Given the description of an element on the screen output the (x, y) to click on. 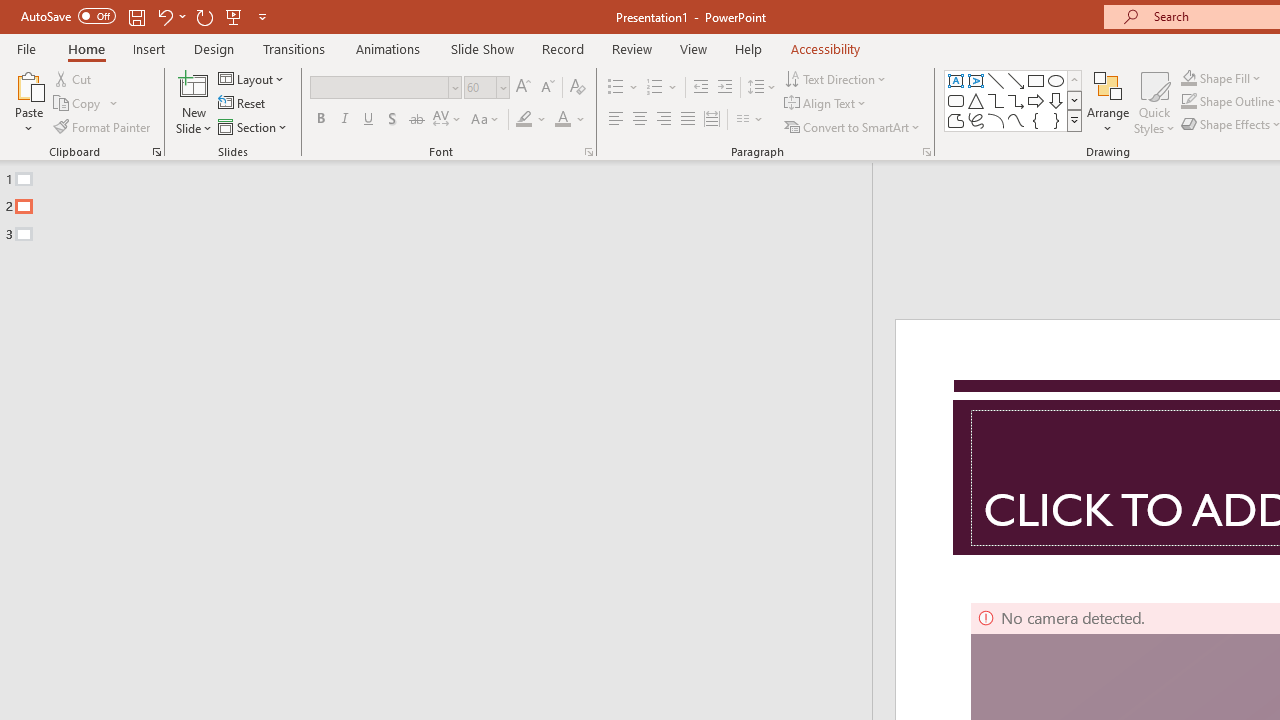
Increase Indent (725, 87)
Save (136, 15)
Paste (28, 84)
Bold (320, 119)
Convert to SmartArt (853, 126)
Freeform: Scribble (975, 120)
Paste (28, 102)
System (10, 11)
Class: NetUIImage (1075, 120)
Bullets (623, 87)
Animations (388, 48)
Quick Access Toolbar (145, 16)
Format Painter (103, 126)
Transitions (294, 48)
Text Direction (836, 78)
